Given the description of an element on the screen output the (x, y) to click on. 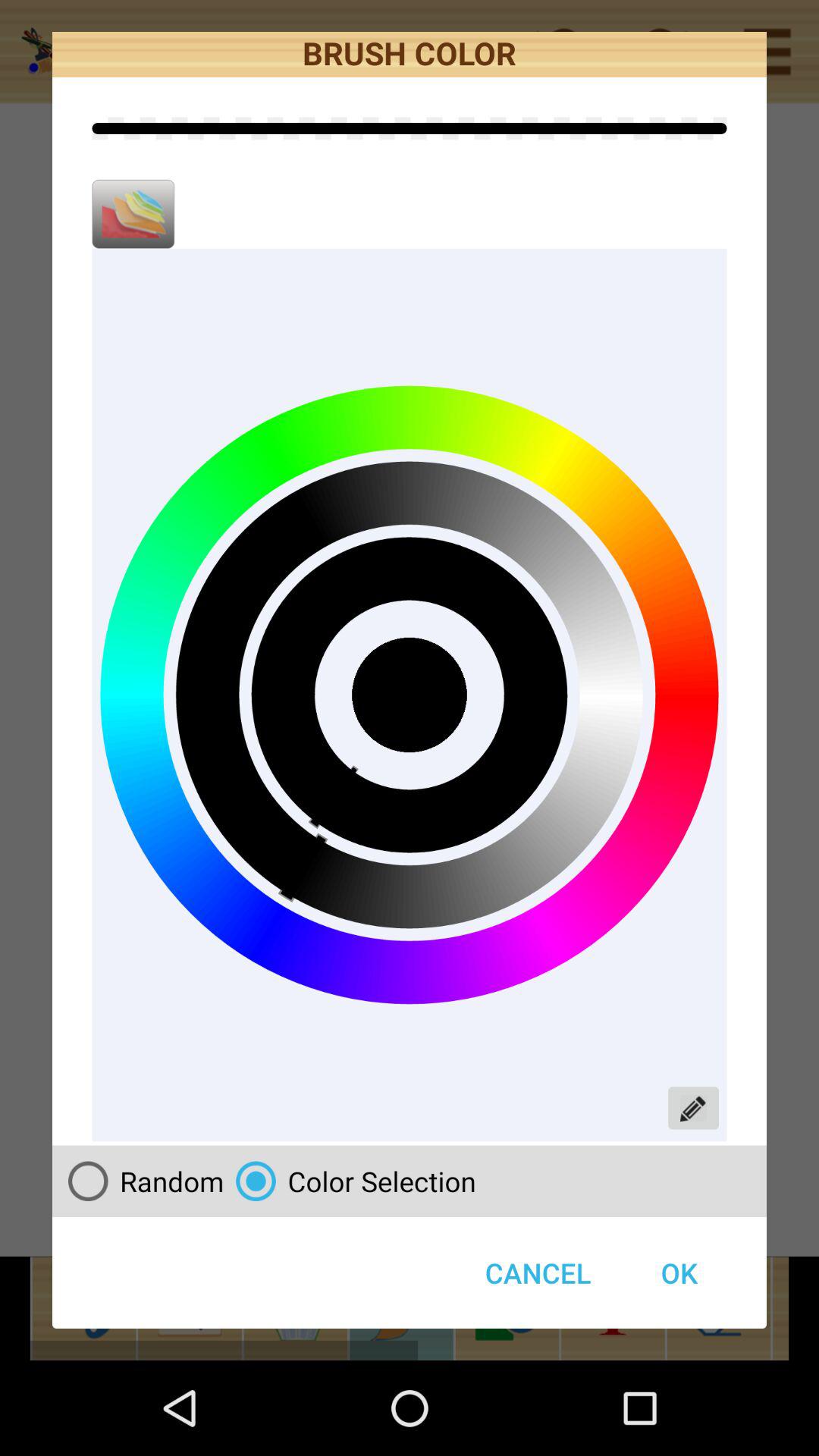
press item at the bottom left corner (140, 1181)
